Given the description of an element on the screen output the (x, y) to click on. 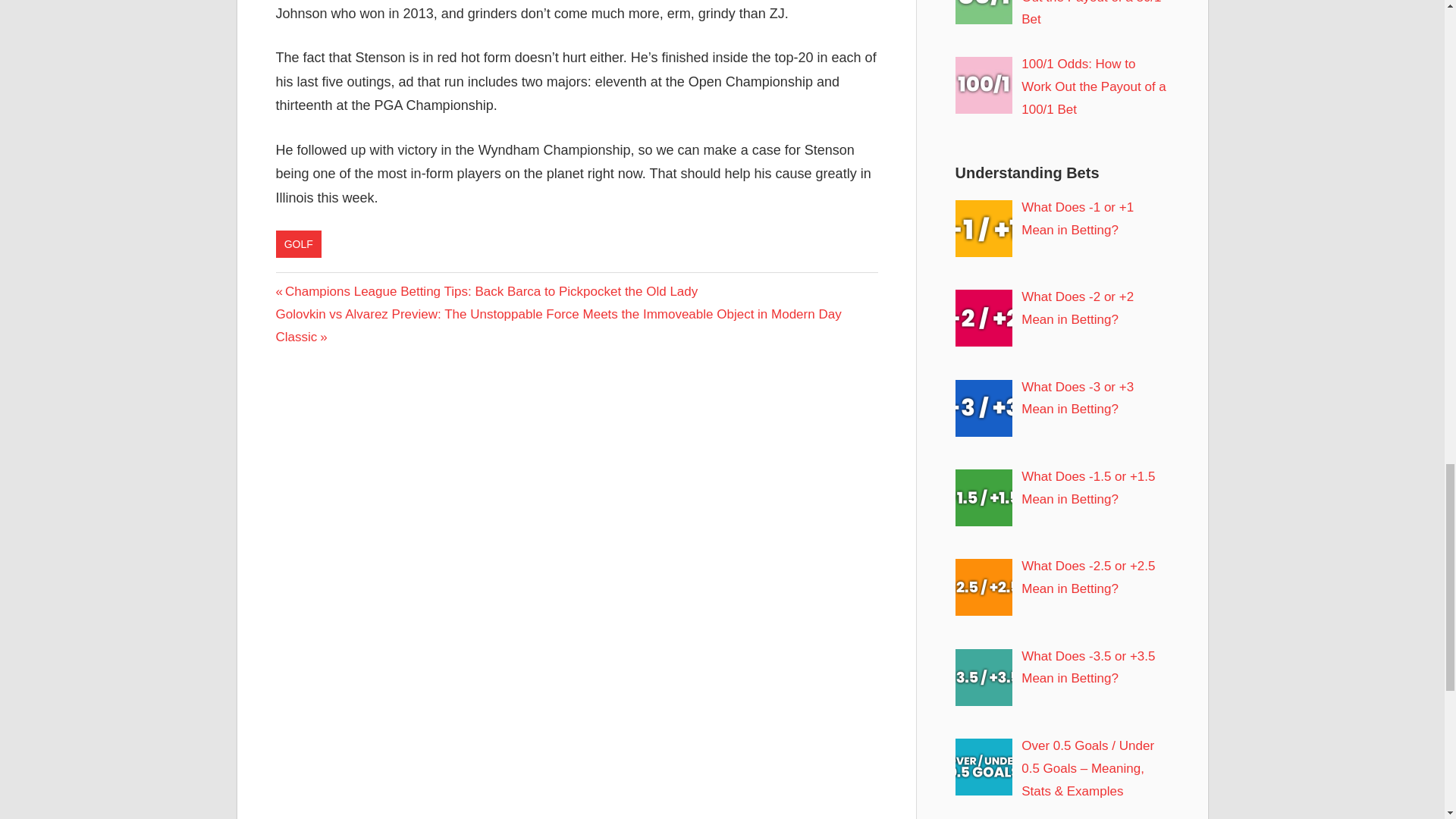
GOLF (298, 243)
